Given the description of an element on the screen output the (x, y) to click on. 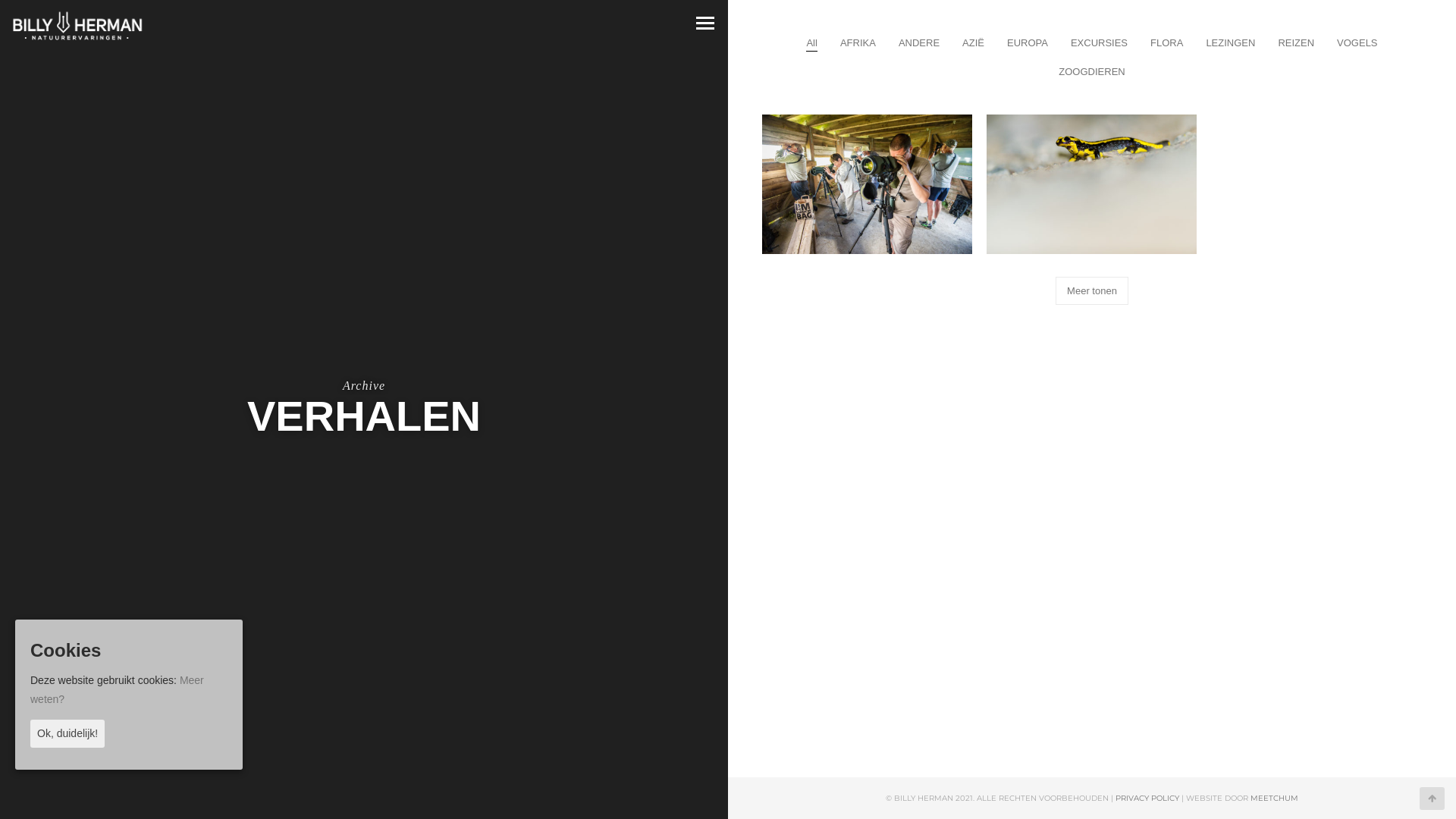
ANDERE Element type: text (918, 42)
FLORA Element type: text (1166, 42)
MEETCHUM Element type: text (1274, 798)
Meer weten? Element type: text (116, 689)
ZOOGDIEREN Element type: text (1091, 71)
Ok, duidelijk! Element type: text (67, 733)
PRIVACY POLICY Element type: text (1147, 798)
LEZINGEN Element type: text (1230, 42)
Meer tonen Element type: text (1091, 290)
VOGELS Element type: text (1356, 42)
All Element type: text (811, 42)
EUROPA Element type: text (1027, 42)
EXCURSIES Element type: text (1098, 42)
AFRIKA Element type: text (857, 42)
REIZEN Element type: text (1295, 42)
